Given the description of an element on the screen output the (x, y) to click on. 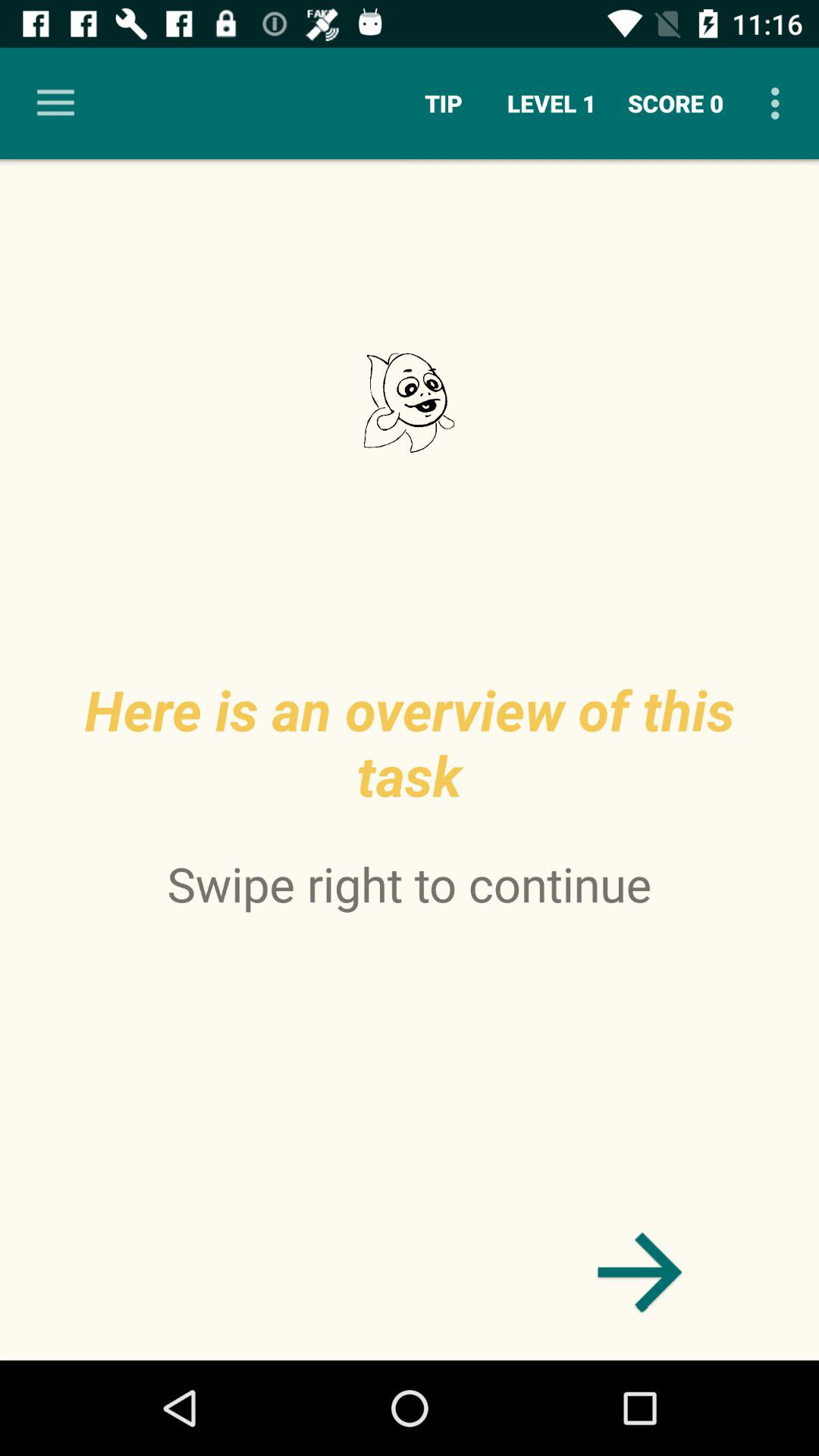
tap the level 1 icon (551, 103)
